Given the description of an element on the screen output the (x, y) to click on. 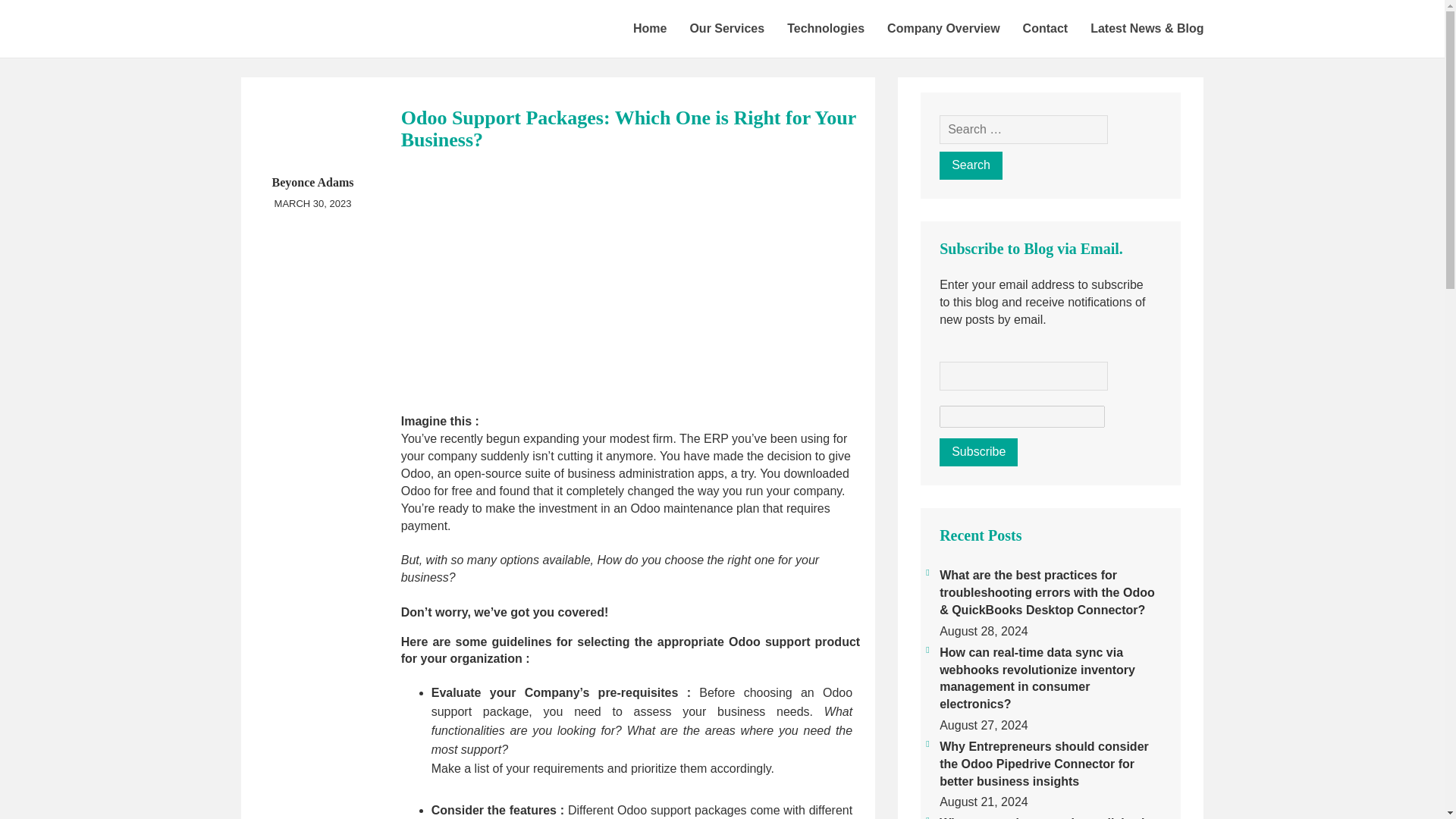
Technologies (826, 28)
Home (649, 28)
Beyonce Adams (311, 182)
Subscribe (978, 452)
Subscribe (978, 452)
Our Services (727, 28)
Search (971, 165)
